Given the description of an element on the screen output the (x, y) to click on. 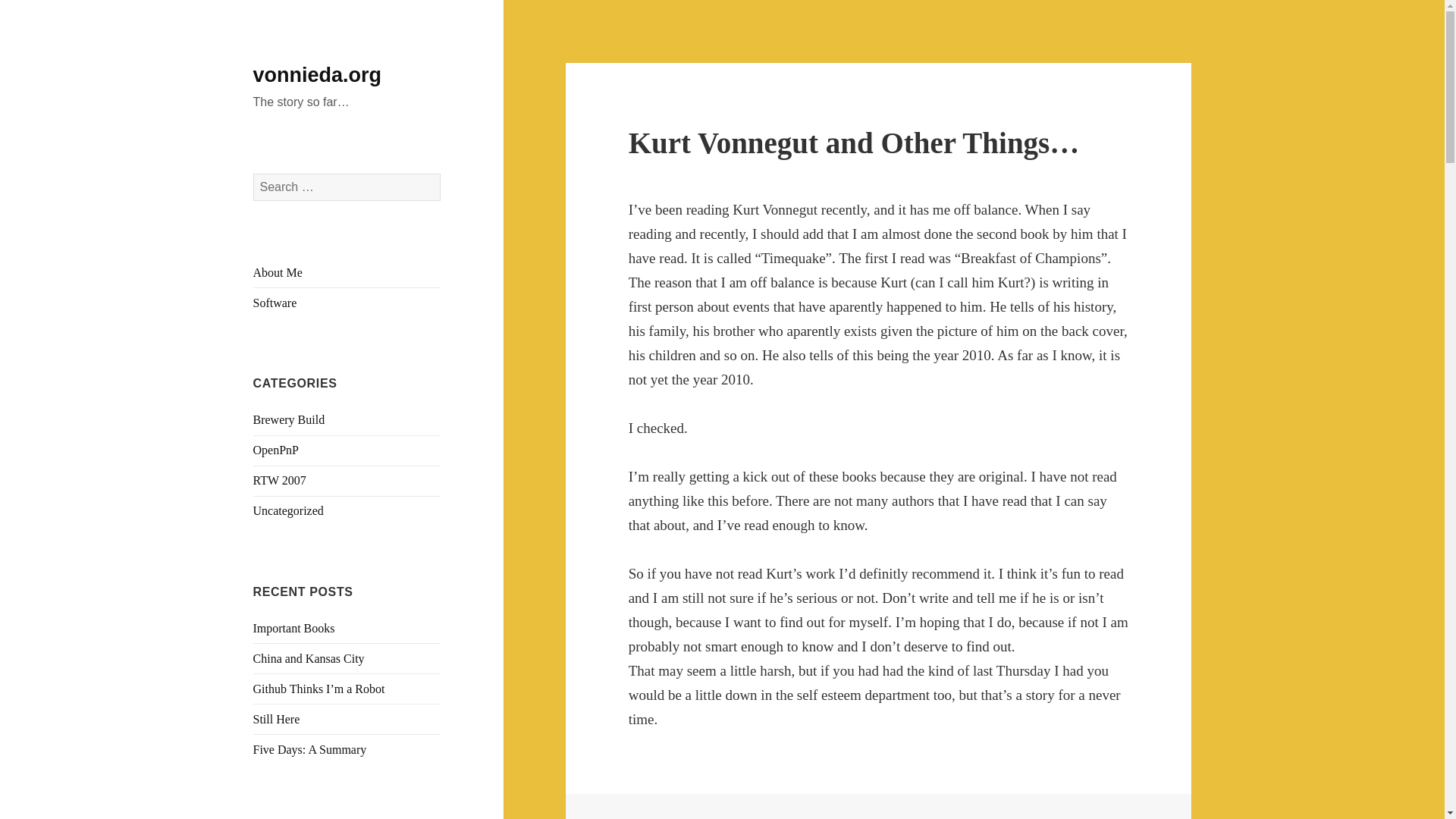
vonnieda.org (317, 74)
Still Here (276, 718)
RTW 2007 (279, 480)
China and Kansas City (309, 658)
About Me (277, 272)
Uncategorized (288, 510)
Important Books (293, 627)
